Given the description of an element on the screen output the (x, y) to click on. 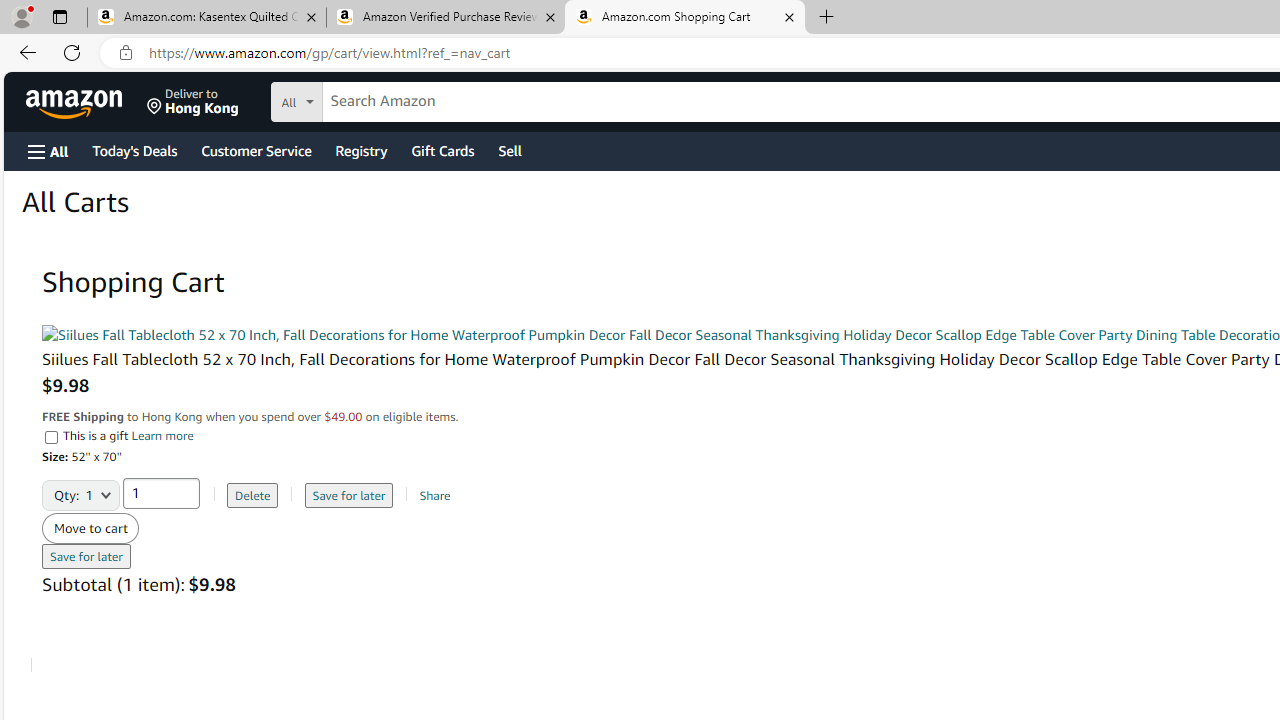
Search in (371, 99)
Qty: Quantity (81, 487)
Quantity (161, 492)
Deliver to Hong Kong (193, 101)
Open Menu (48, 151)
